Given the description of an element on the screen output the (x, y) to click on. 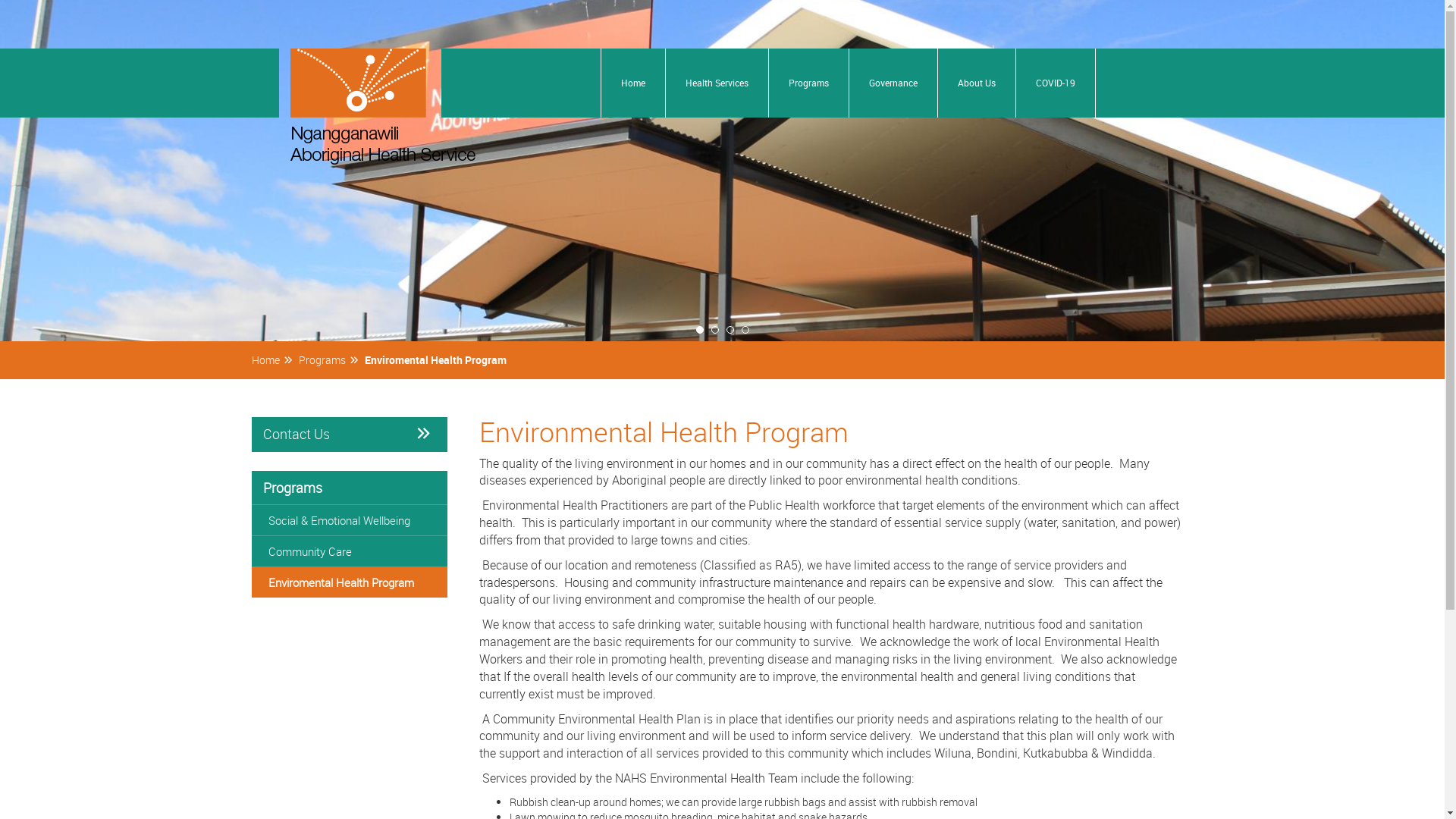
Clinic Front Element type: hover (722, 170)
Contact Us Element type: text (349, 434)
About Us Element type: text (975, 82)
Programs Element type: text (808, 82)
Enviromental Health Program Element type: text (444, 359)
Enviromental Health Program Element type: text (349, 582)
COVID-19 Element type: text (1055, 82)
Home Element type: text (274, 359)
Governance Element type: text (893, 82)
Home Element type: text (632, 82)
Community Care Element type: text (349, 551)
Programs Element type: text (331, 359)
Health Services Element type: text (716, 82)
Programs Element type: text (349, 487)
View Ngangganawili Aboriginal Health Service website Element type: hover (381, 106)
Social & Emotional Wellbeing Element type: text (349, 520)
